Given the description of an element on the screen output the (x, y) to click on. 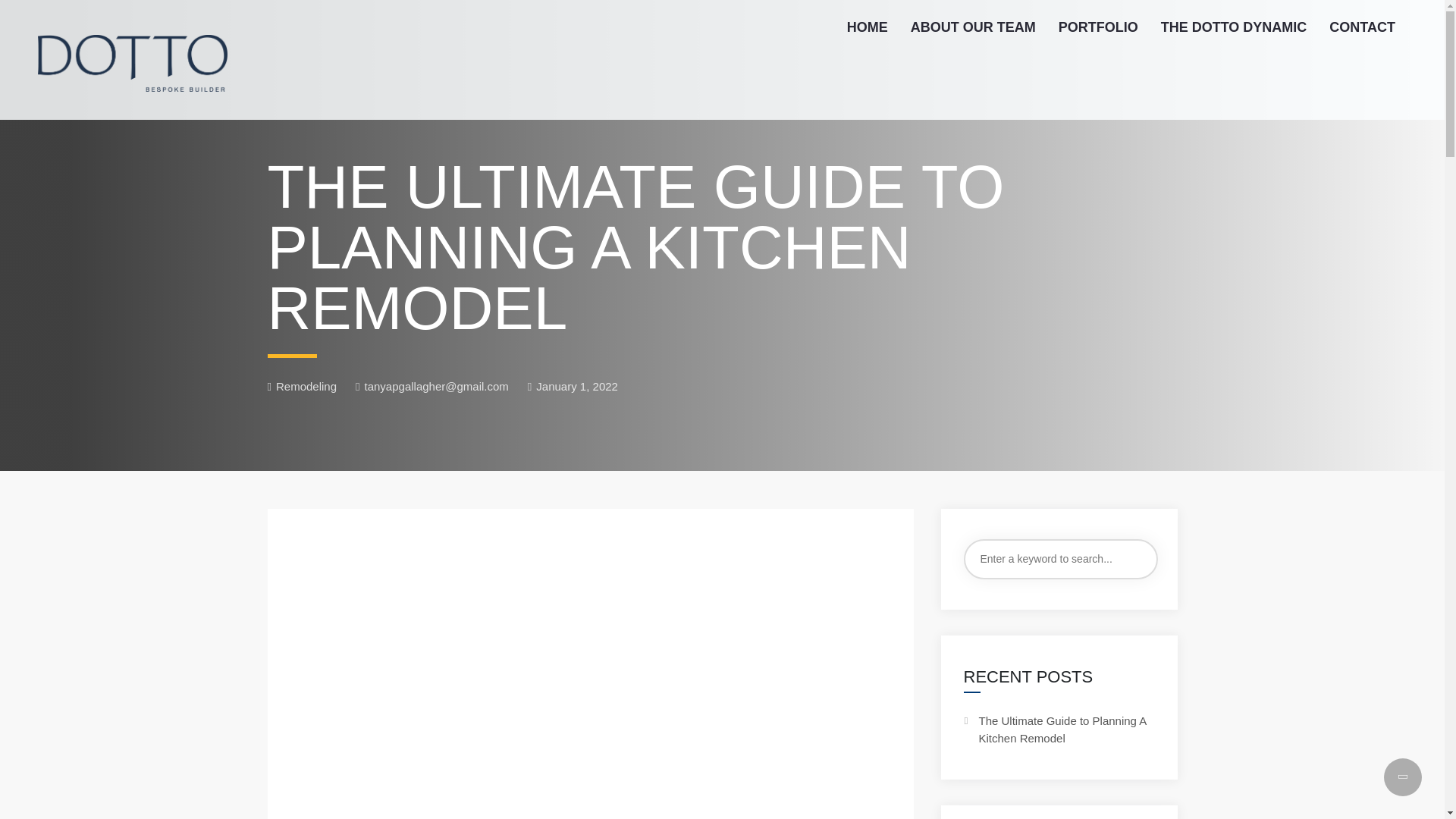
Submit (32, 22)
ABOUT OUR TEAM (972, 27)
Remodeling (306, 386)
CONTACT (1361, 27)
HOME (867, 27)
The Ultimate Guide to Planning A Kitchen Remodel (1061, 729)
PORTFOLIO (1098, 27)
January 1, 2022 (572, 386)
THE DOTTO DYNAMIC (1234, 27)
Dotto Construction (132, 59)
